Given the description of an element on the screen output the (x, y) to click on. 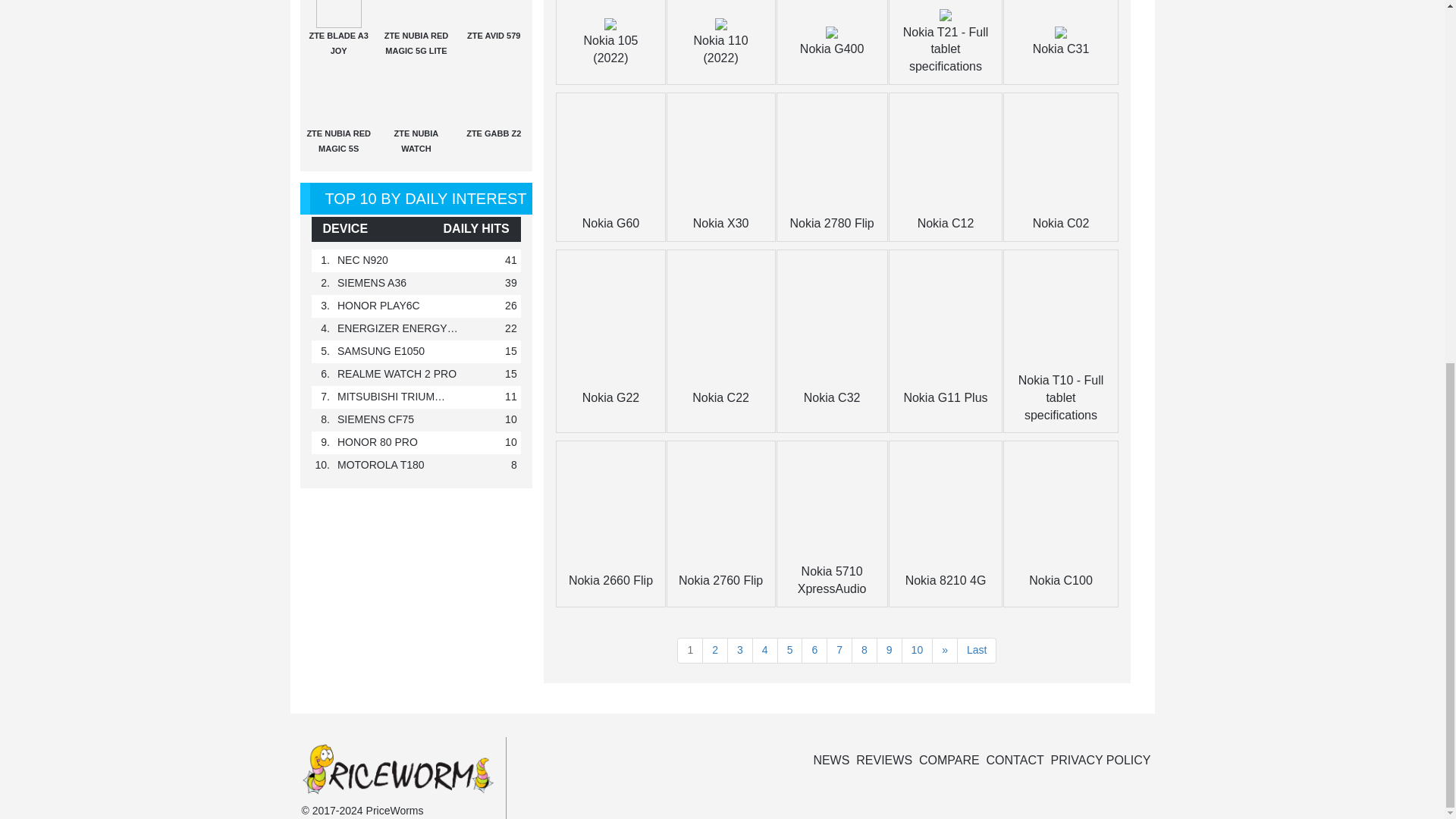
Nokia 2780 Flip (832, 223)
Nokia G400 (831, 48)
Nokia C31 (1060, 48)
Nokia C12 (945, 223)
Nokia G60 (611, 223)
Nokia C02 (1060, 223)
Nokia X30 (721, 223)
Nokia T21 - Full tablet specifications (945, 49)
